Given the description of an element on the screen output the (x, y) to click on. 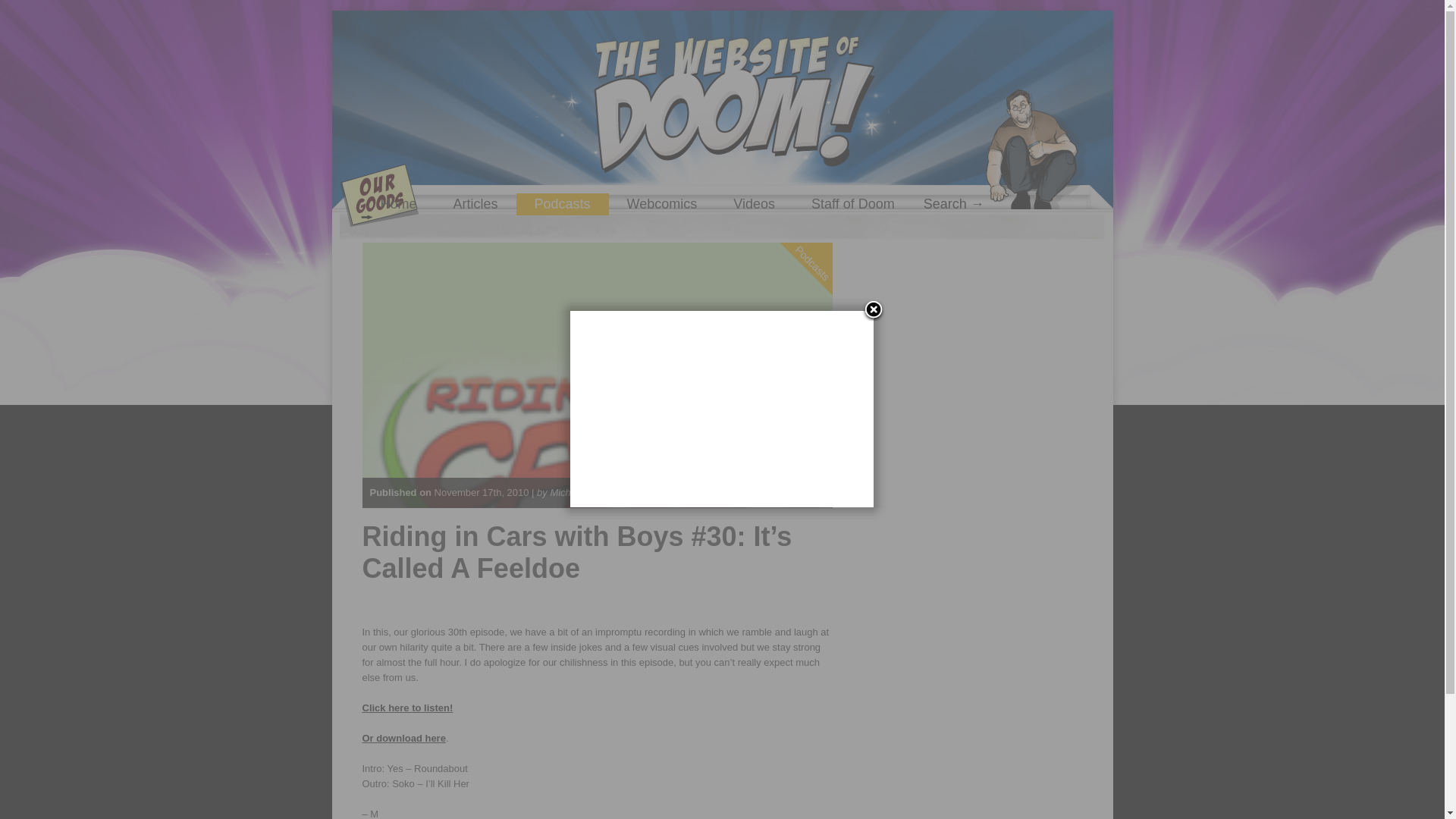
Podcasts (562, 204)
Click here to listen! (407, 707)
Articles (475, 204)
Or download here (403, 737)
Videos (753, 204)
Staff of Doom (852, 204)
Webcomics (662, 204)
Home (398, 204)
Podcasts (828, 201)
